Given the description of an element on the screen output the (x, y) to click on. 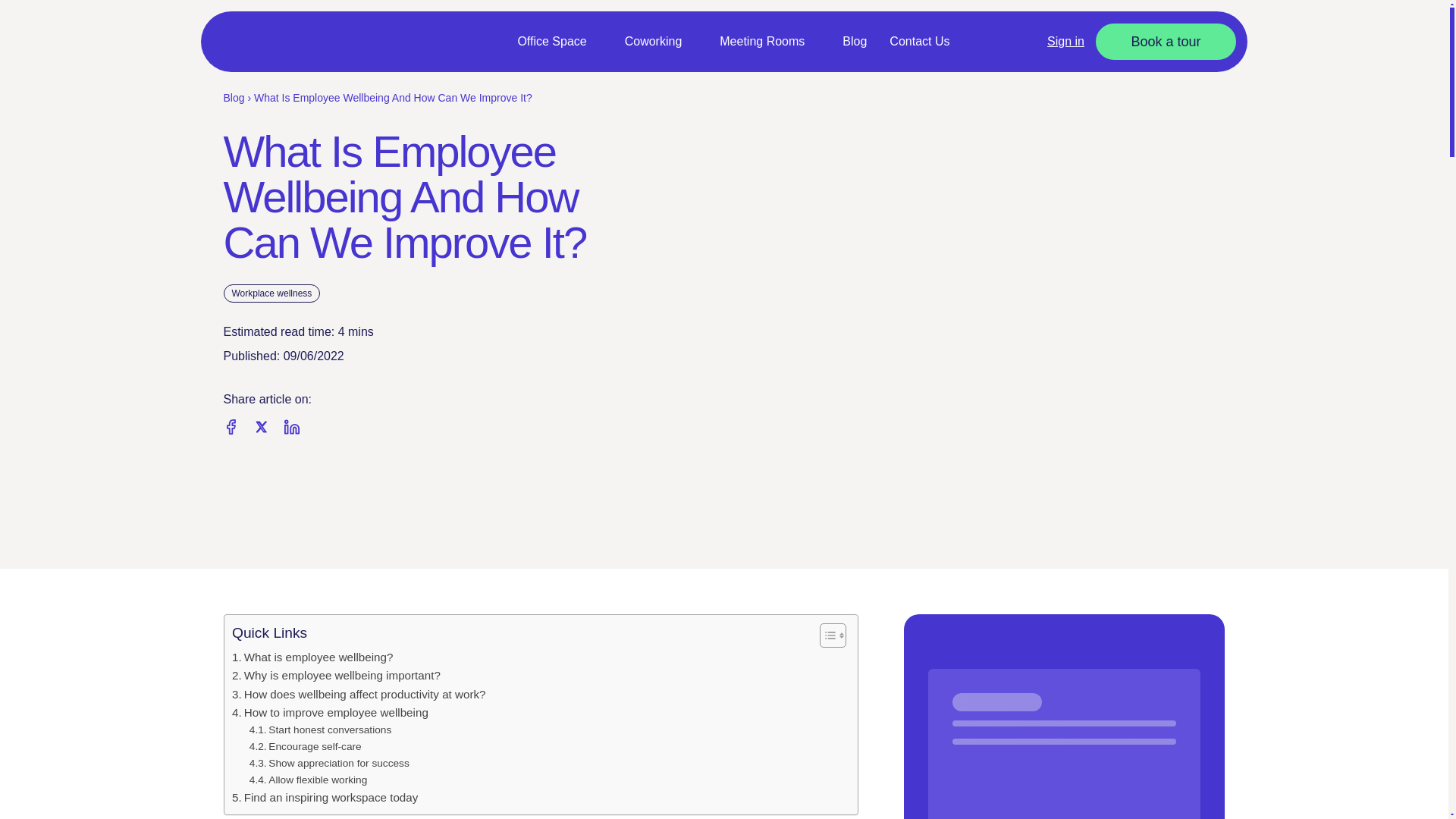
Encourage self-care (304, 746)
Coworking (660, 41)
How does wellbeing affect productivity at work? (358, 694)
Show appreciation for success (328, 763)
How to improve employee wellbeing (329, 712)
Office Space (558, 41)
Why is employee wellbeing important? (336, 675)
Start honest conversations (319, 729)
Allow flexible working (308, 780)
Find an inspiring workspace today (324, 797)
What is employee wellbeing? (312, 657)
